Given the description of an element on the screen output the (x, y) to click on. 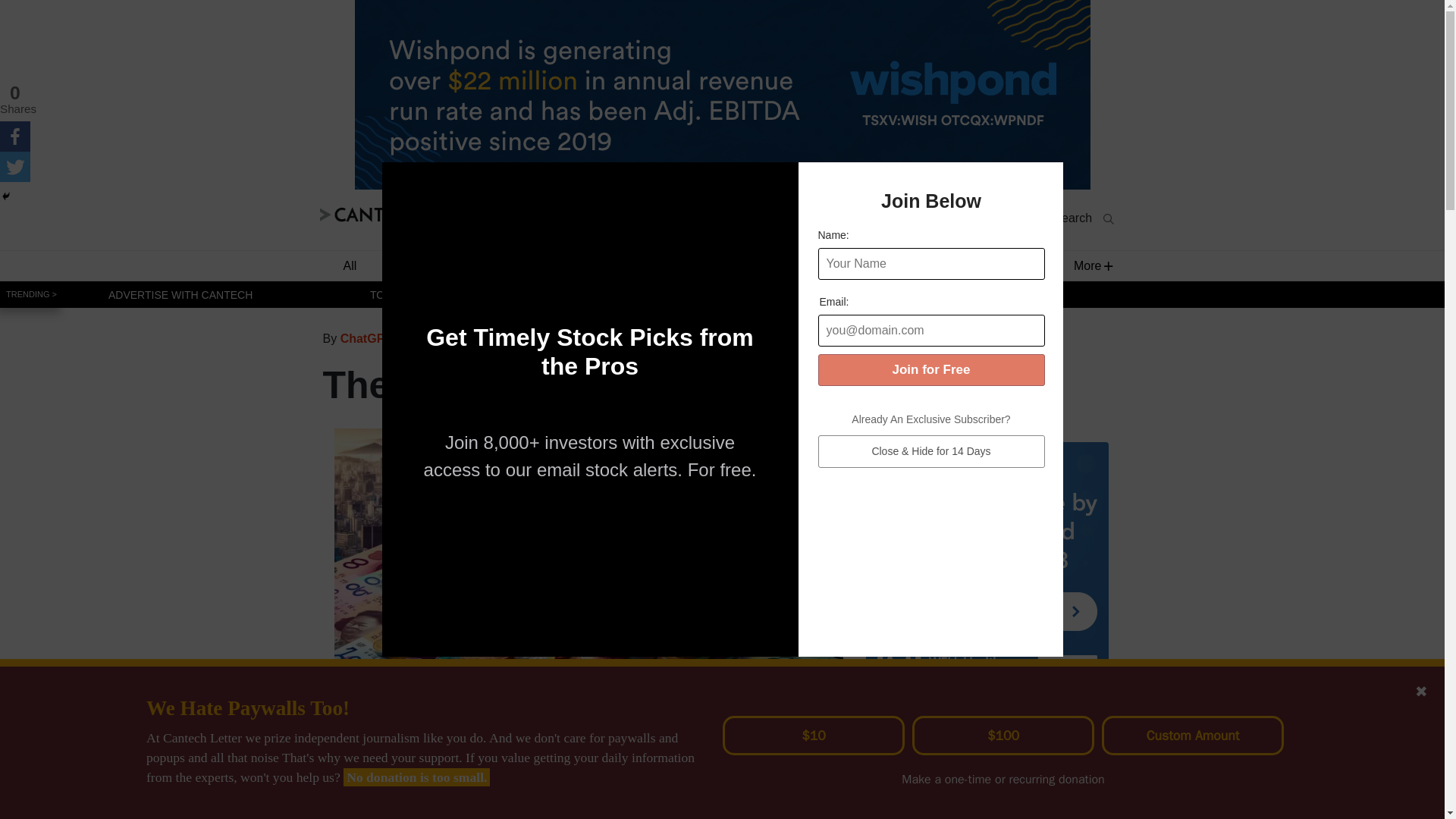
Search (1083, 217)
More (1087, 265)
ChatGPT (365, 338)
All (349, 265)
Pro Stock Picks (957, 219)
Software (425, 265)
Listed (973, 338)
Fintech (611, 265)
Twitter (15, 166)
Security (815, 265)
Hide (5, 196)
Cleantech (909, 265)
Join for Free (929, 368)
TOP PICKS (397, 294)
Life Sciences (711, 265)
